Given the description of an element on the screen output the (x, y) to click on. 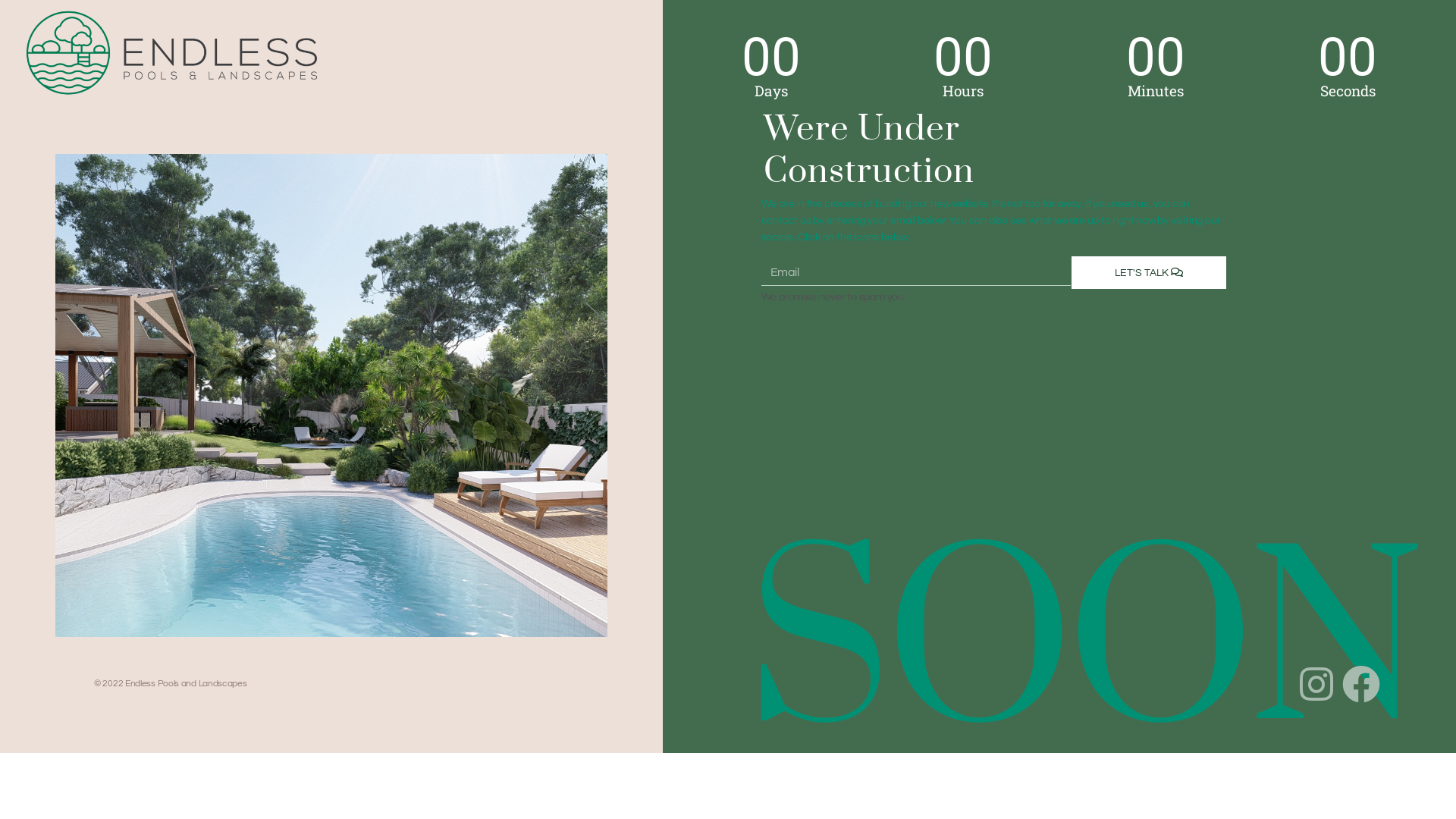
LET'S TALK Element type: text (1148, 272)
